Given the description of an element on the screen output the (x, y) to click on. 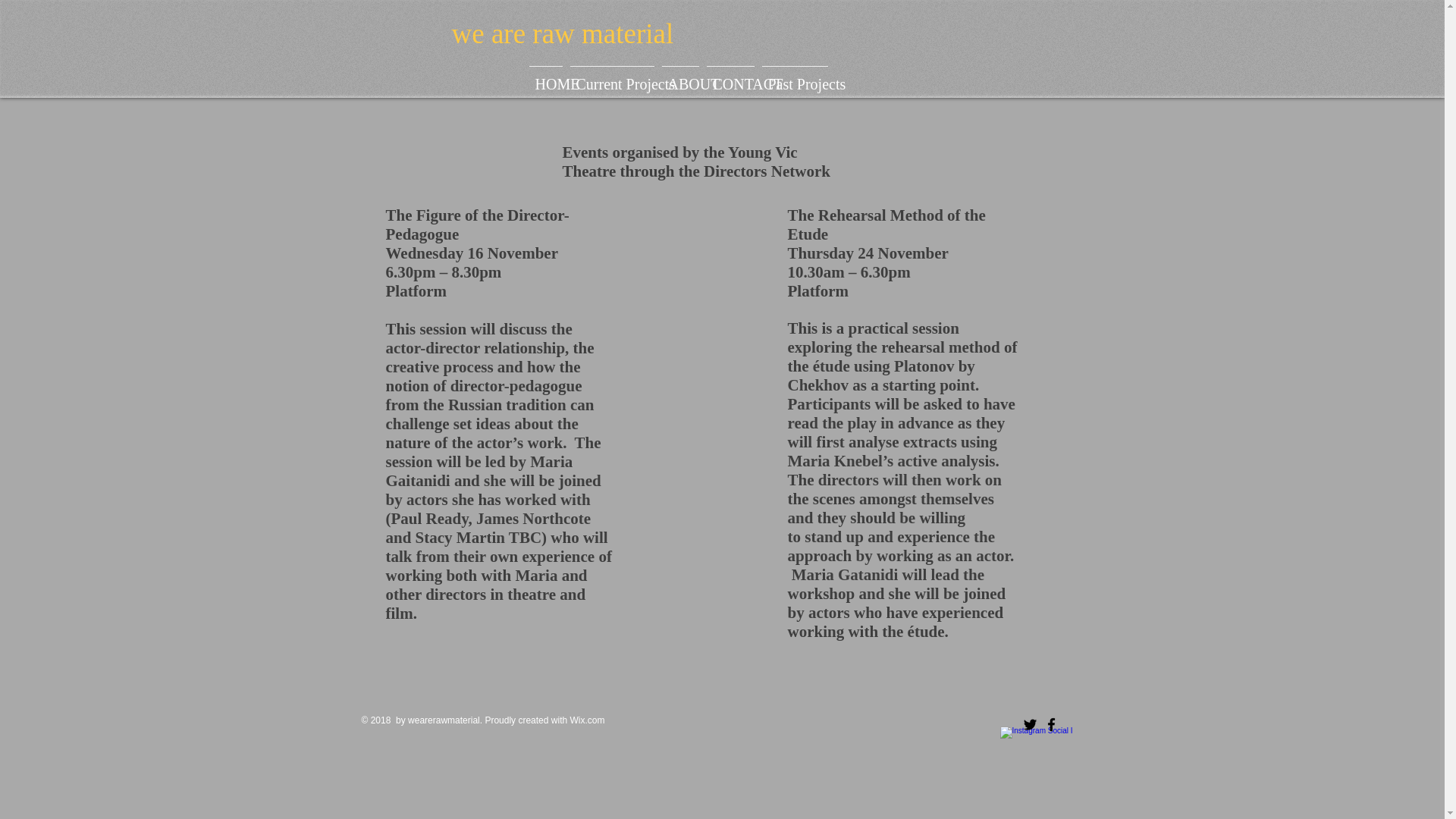
ABOUT (680, 77)
HOME (545, 77)
Past Projects (794, 77)
Wix.com (586, 719)
CONTACT (729, 77)
Current Projects (612, 77)
